Given the description of an element on the screen output the (x, y) to click on. 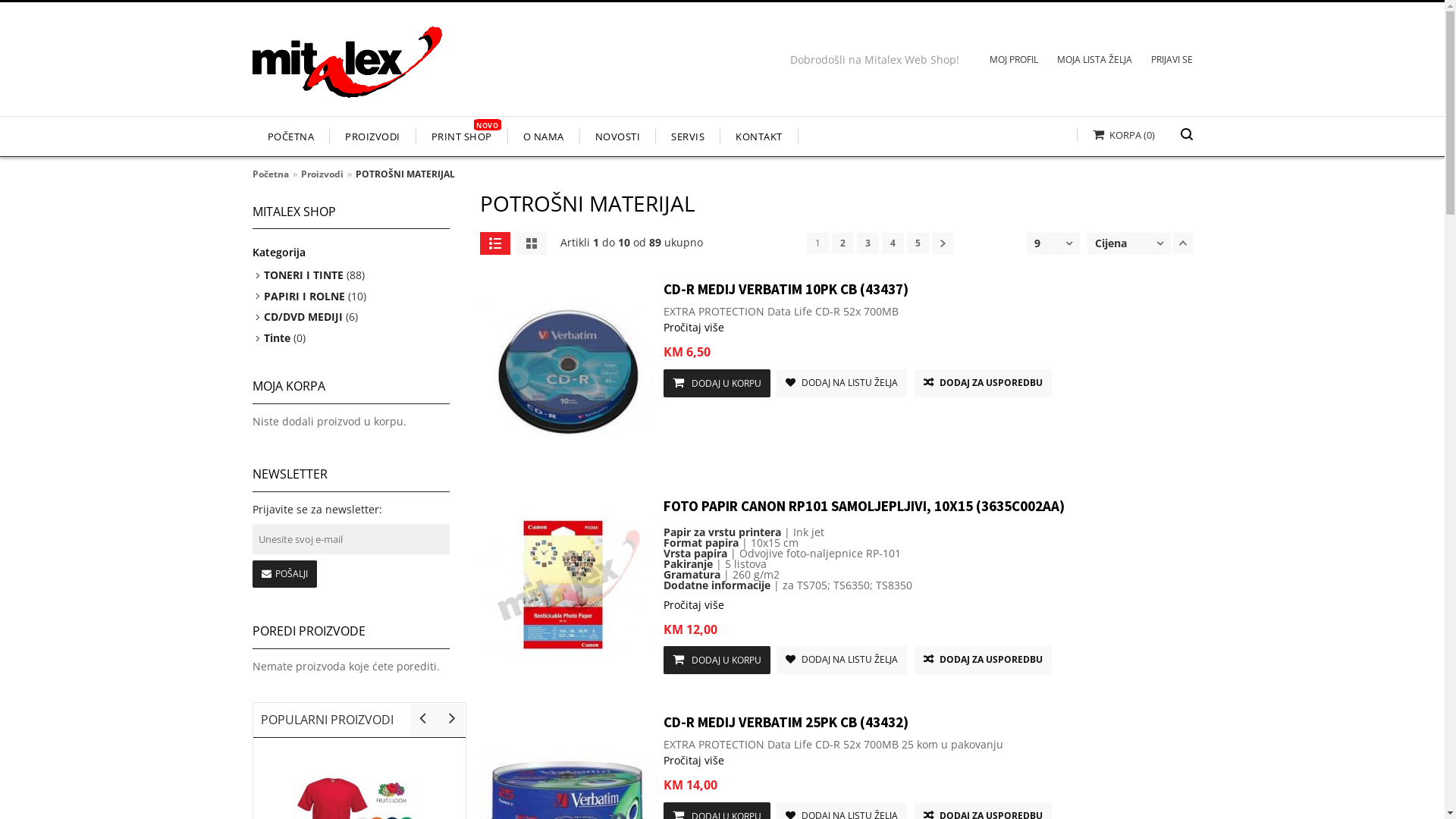
9 Element type: text (1037, 242)
NOVOSTI Element type: text (617, 136)
O NAMA Element type: text (544, 136)
DODAJ ZA USPOREDBU Element type: text (982, 383)
Set Descending Direction Element type: hover (1182, 242)
FOTO PAPIR CANON RP101 SAMOLJEPLJIVI, 10X15 (3635C002AA) Element type: text (862, 505)
FOTO PAPIR CANON RP101 samoljepljivi, 10X15 (3635C002AA) Element type: hover (566, 668)
Cijena Element type: text (1110, 242)
DODAJ ZA USPOREDBU Element type: text (982, 660)
PAPIRI I ROLNE Element type: text (304, 295)
CD-R MEDIJ VERBATIM 10PK CB (43437) Element type: text (784, 288)
KONTAKT Element type: text (759, 136)
DODAJ U KORPU Element type: text (715, 660)
4 Element type: text (892, 243)
PROIZVODI Element type: text (372, 136)
SERVIS Element type: text (687, 136)
Prijavite se za newsletter Element type: hover (349, 539)
TONERI I TINTE Element type: text (303, 274)
Lista Element type: hover (494, 243)
Proizvodi Element type: text (321, 173)
CD-R MEDIJ VERBATIM 25PK CB (43432) Element type: text (784, 721)
Tinte Element type: text (276, 337)
DODAJ U KORPU Element type: text (715, 383)
5 Element type: text (917, 243)
Mitalex Shop Element type: hover (346, 67)
2 Element type: text (842, 243)
CD-R MEDIJ VERBATIM 10PK CB (43437) Element type: hover (566, 451)
PRIJAVI SE Element type: text (1161, 61)
KORPA (0) Element type: text (1115, 134)
PRINT SHOP Element type: text (461, 136)
CD/DVD MEDIJI Element type: text (302, 316)
MOJ PROFIL Element type: text (1004, 61)
3 Element type: text (867, 243)
